Given the description of an element on the screen output the (x, y) to click on. 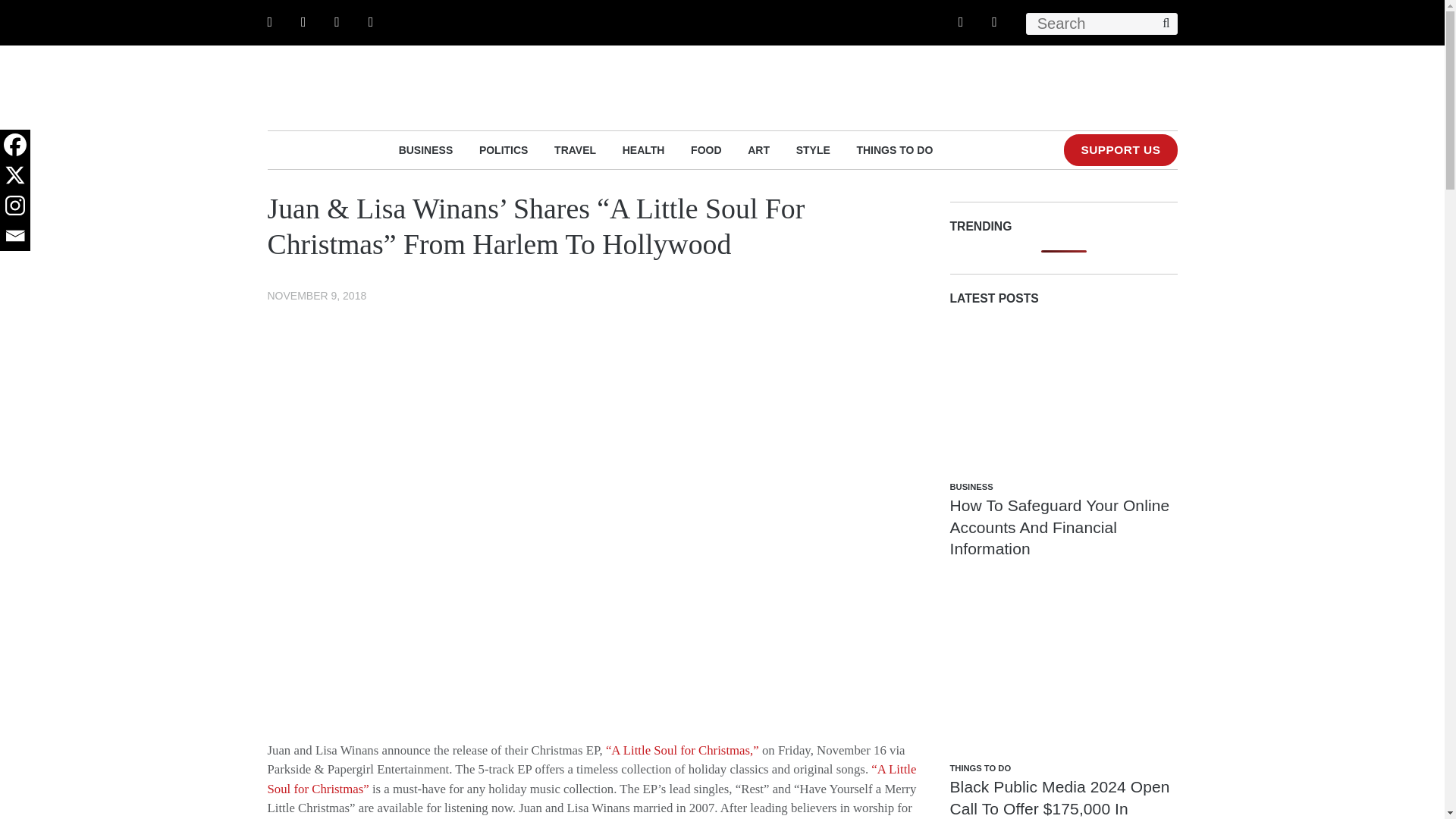
STYLE (812, 149)
HEALTH (644, 149)
BUSINESS (425, 149)
Facebook (15, 144)
Instagram (15, 205)
Email (15, 235)
POLITICS (503, 149)
SUPPORT US (1120, 150)
X (15, 174)
THINGS TO DO (894, 149)
